Given the description of an element on the screen output the (x, y) to click on. 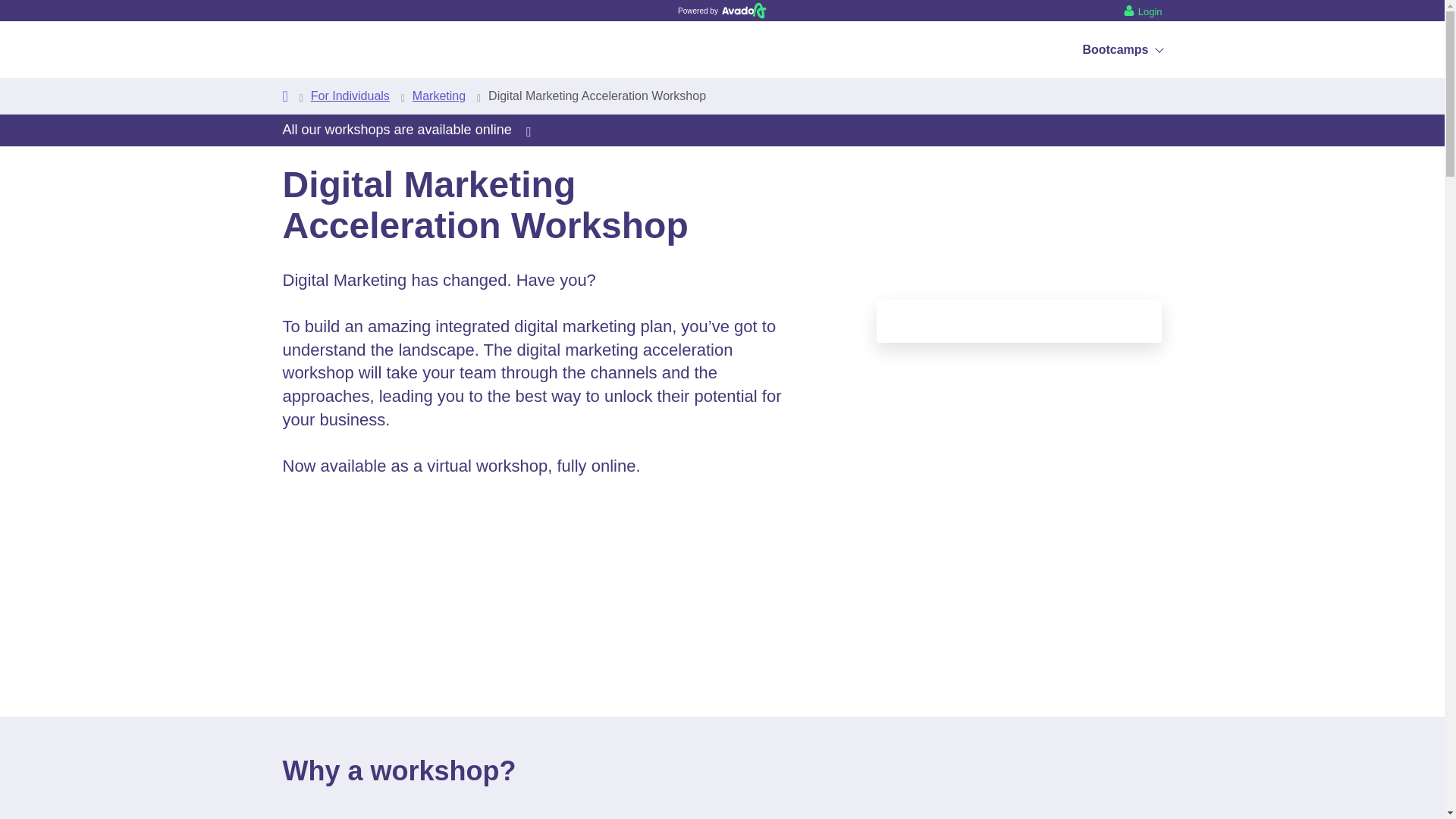
All our workshops are available online (405, 129)
Marketing (438, 96)
For Individuals (350, 96)
Login (1142, 9)
Bootcamps (1121, 49)
